Given the description of an element on the screen output the (x, y) to click on. 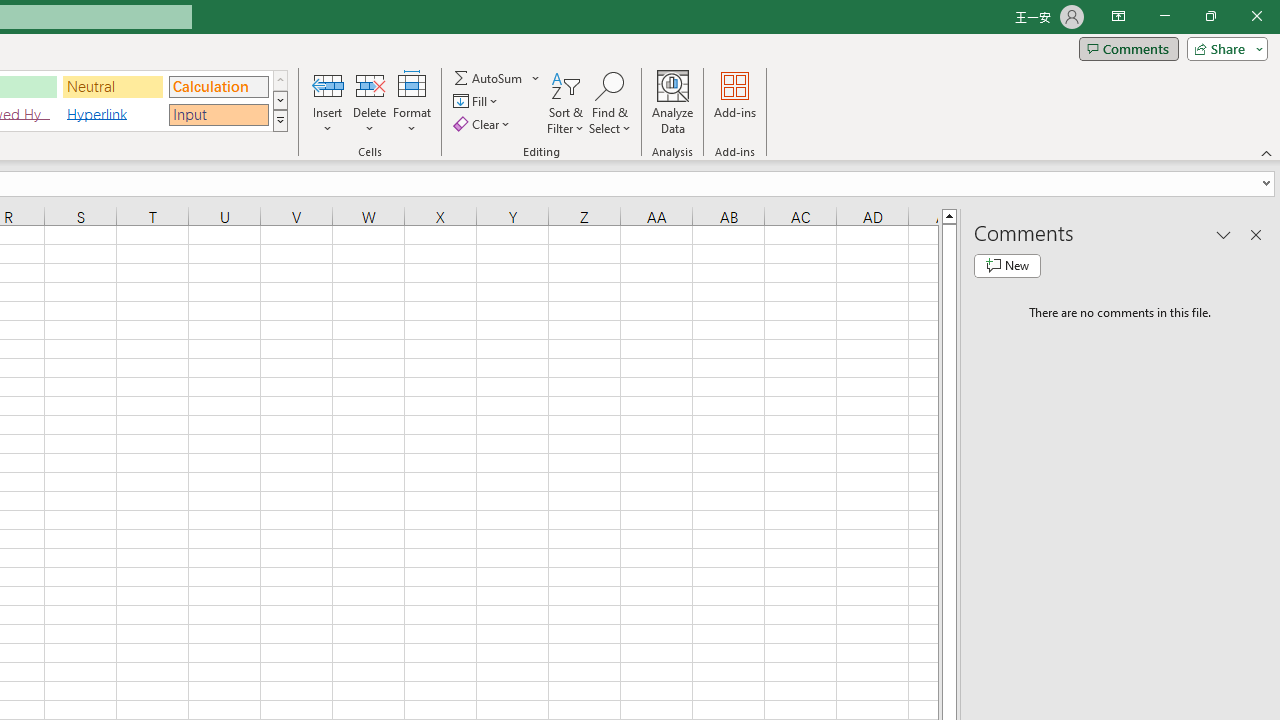
Close pane (1256, 234)
Format (411, 102)
Task Pane Options (1224, 234)
Find & Select (610, 102)
Delete (369, 102)
Fill (477, 101)
Input (218, 114)
Neutral (113, 86)
Sort & Filter (566, 102)
Analyze Data (673, 102)
